Given the description of an element on the screen output the (x, y) to click on. 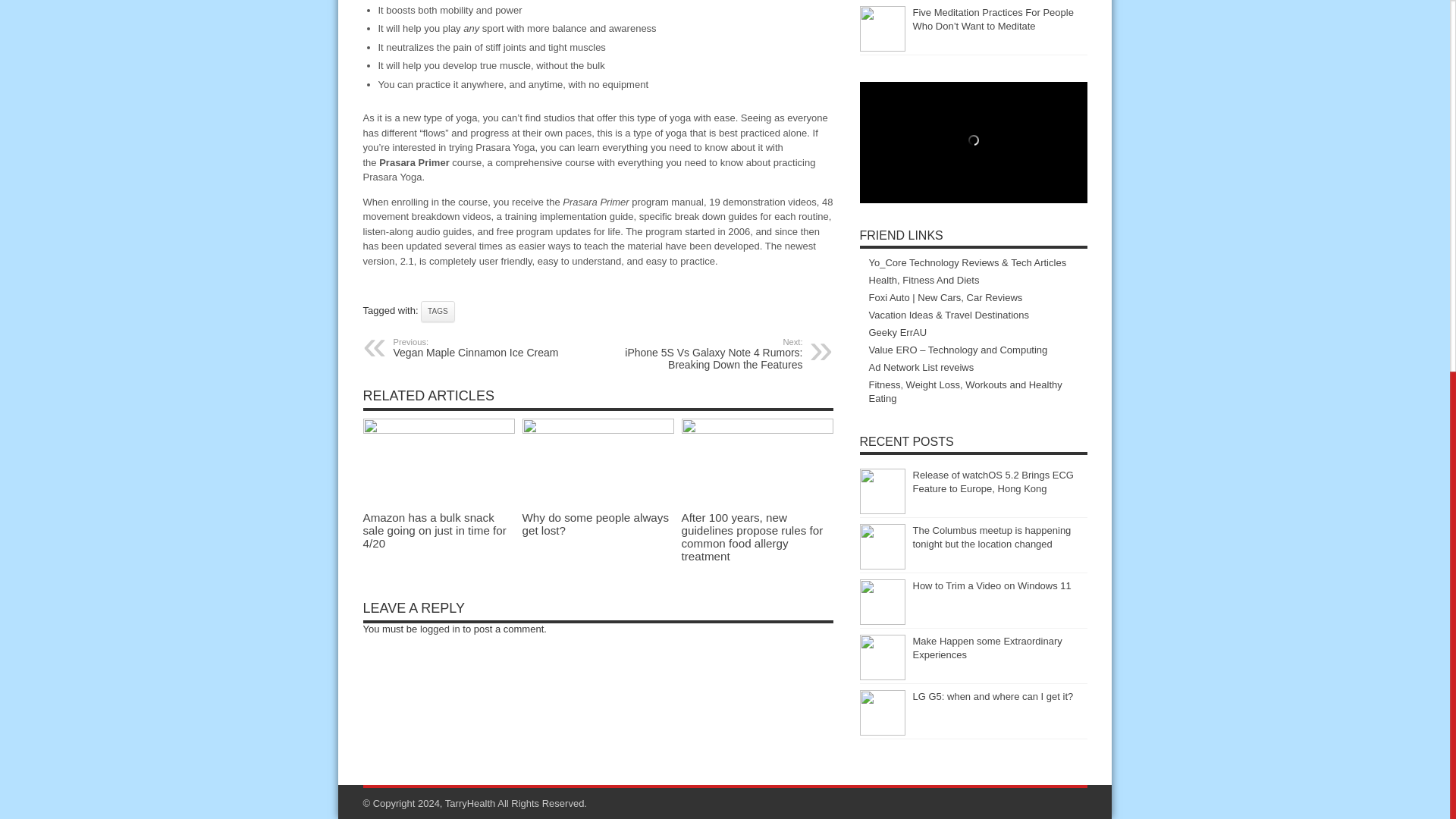
Permalink to Why do some people always get lost? (594, 524)
TAGS (437, 311)
logged in (440, 628)
Permalink to Why do some people always get lost? (485, 347)
Why do some people always get lost? (596, 430)
